Given the description of an element on the screen output the (x, y) to click on. 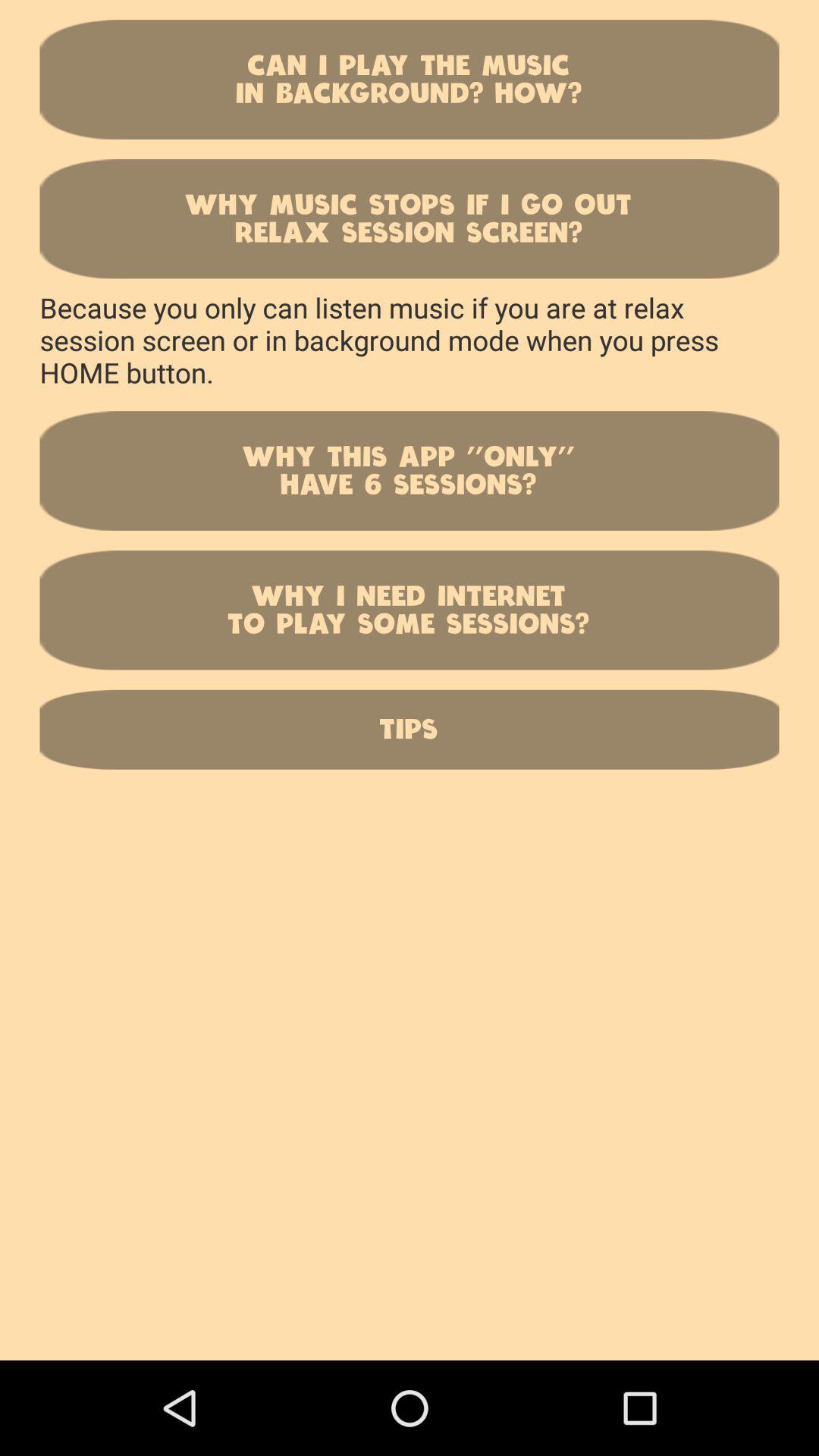
launch the item below the can i play (409, 218)
